Given the description of an element on the screen output the (x, y) to click on. 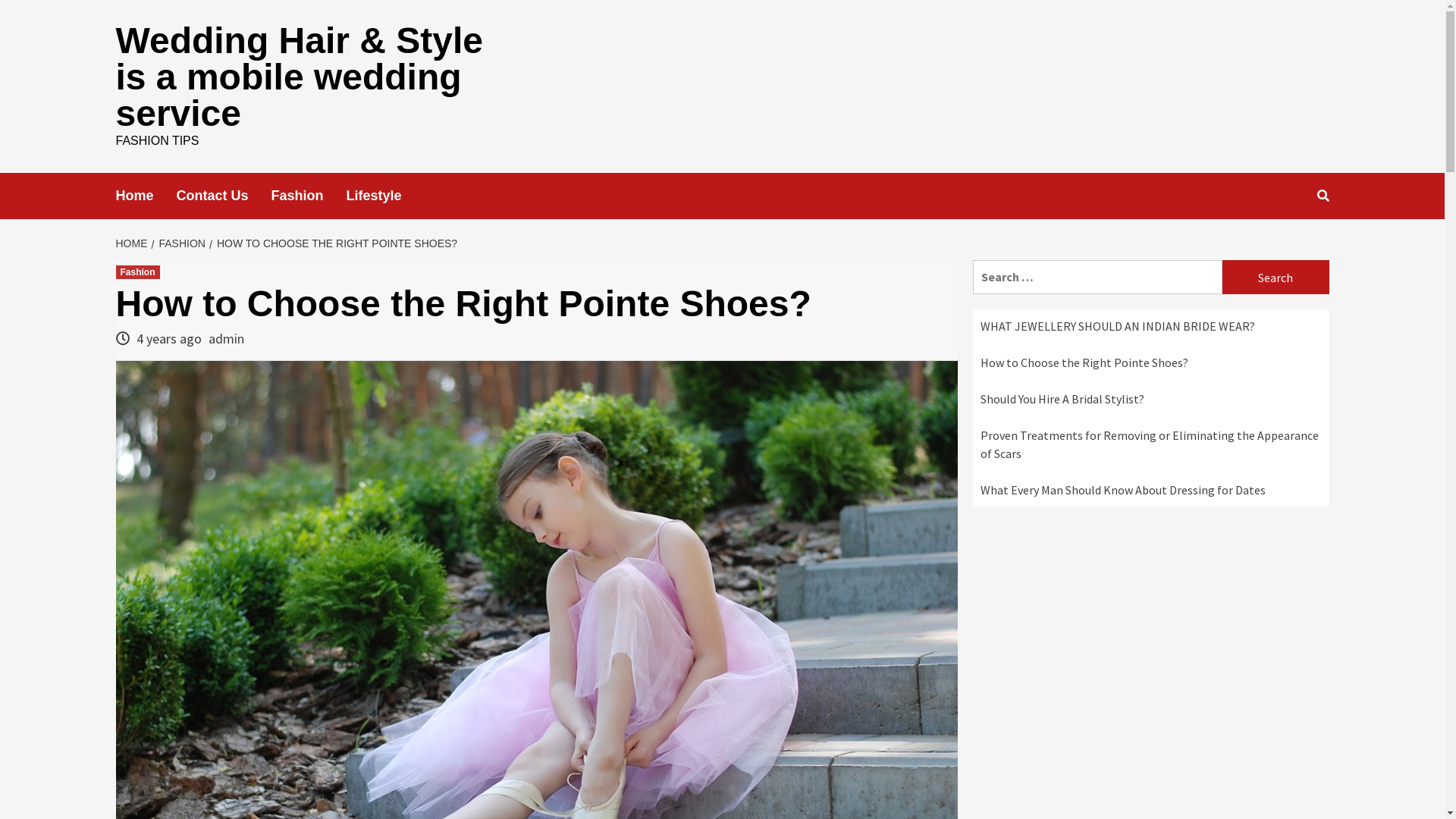
WHAT JEWELLERY SHOULD AN INDIAN BRIDE WEAR? Element type: text (1116, 325)
admin Element type: text (225, 338)
Wedding Hair & Style is a mobile wedding service Element type: text (299, 76)
FASHION Element type: text (180, 243)
Search Element type: text (1275, 277)
Home Element type: text (145, 195)
Should You Hire A Bridal Stylist? Element type: text (1061, 398)
Fashion Element type: text (137, 272)
HOME Element type: text (132, 243)
What Every Man Should Know About Dressing for Dates Element type: text (1121, 489)
How to Choose the Right Pointe Shoes? Element type: text (1083, 362)
Lifestyle Element type: text (385, 195)
Fashion Element type: text (308, 195)
Contact Us Element type: text (223, 195)
